Given the description of an element on the screen output the (x, y) to click on. 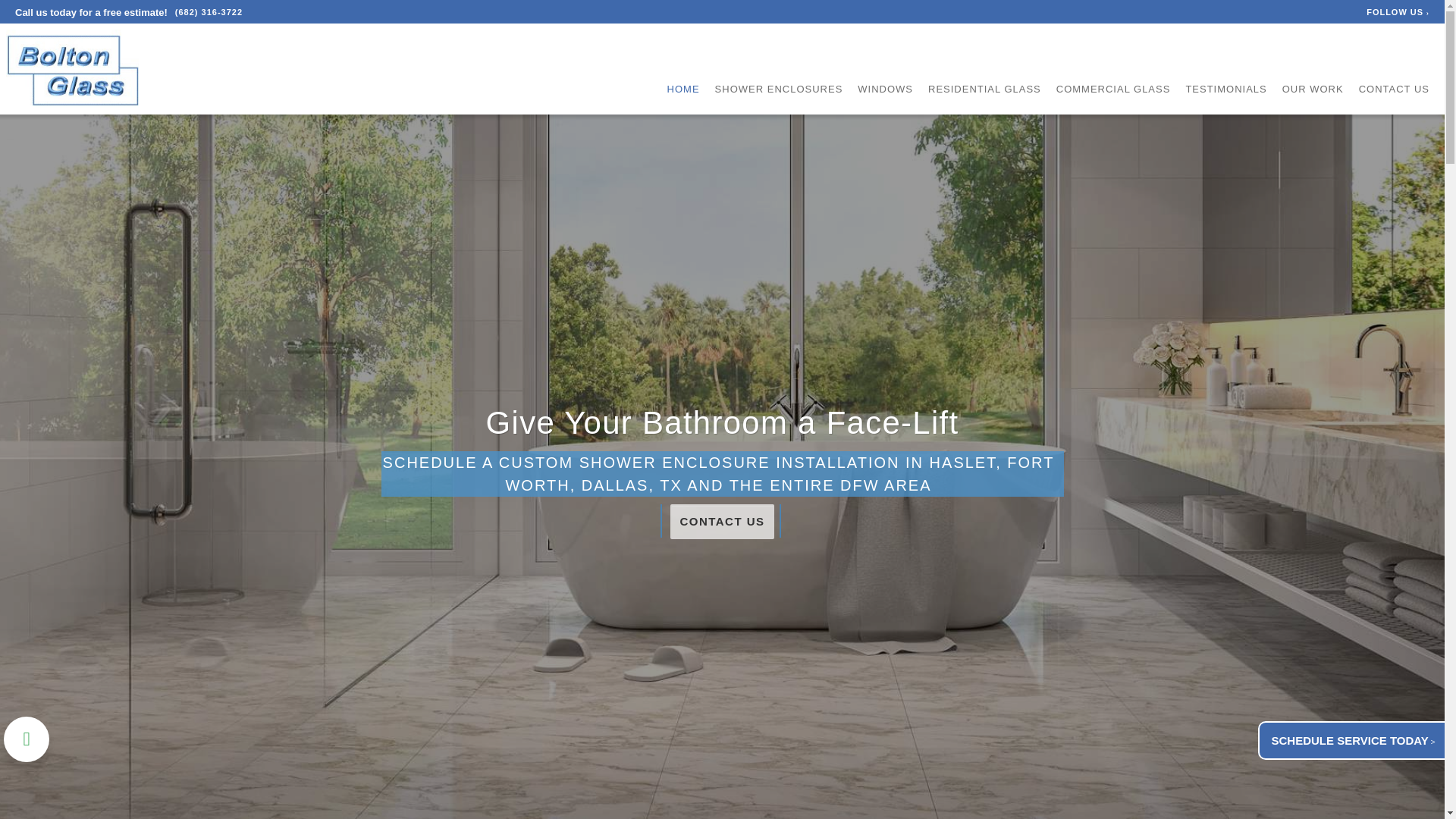
WINDOWS (884, 89)
OUR WORK (1312, 89)
HOME (683, 89)
TESTIMONIALS (1225, 89)
Give Your Bathroom a Face-Lift (722, 422)
RESIDENTIAL GLASS (984, 89)
SHOWER ENCLOSURES (778, 89)
COMMERCIAL GLASS (1113, 89)
CONTACT US (721, 520)
CONTACT US (1393, 89)
